Given the description of an element on the screen output the (x, y) to click on. 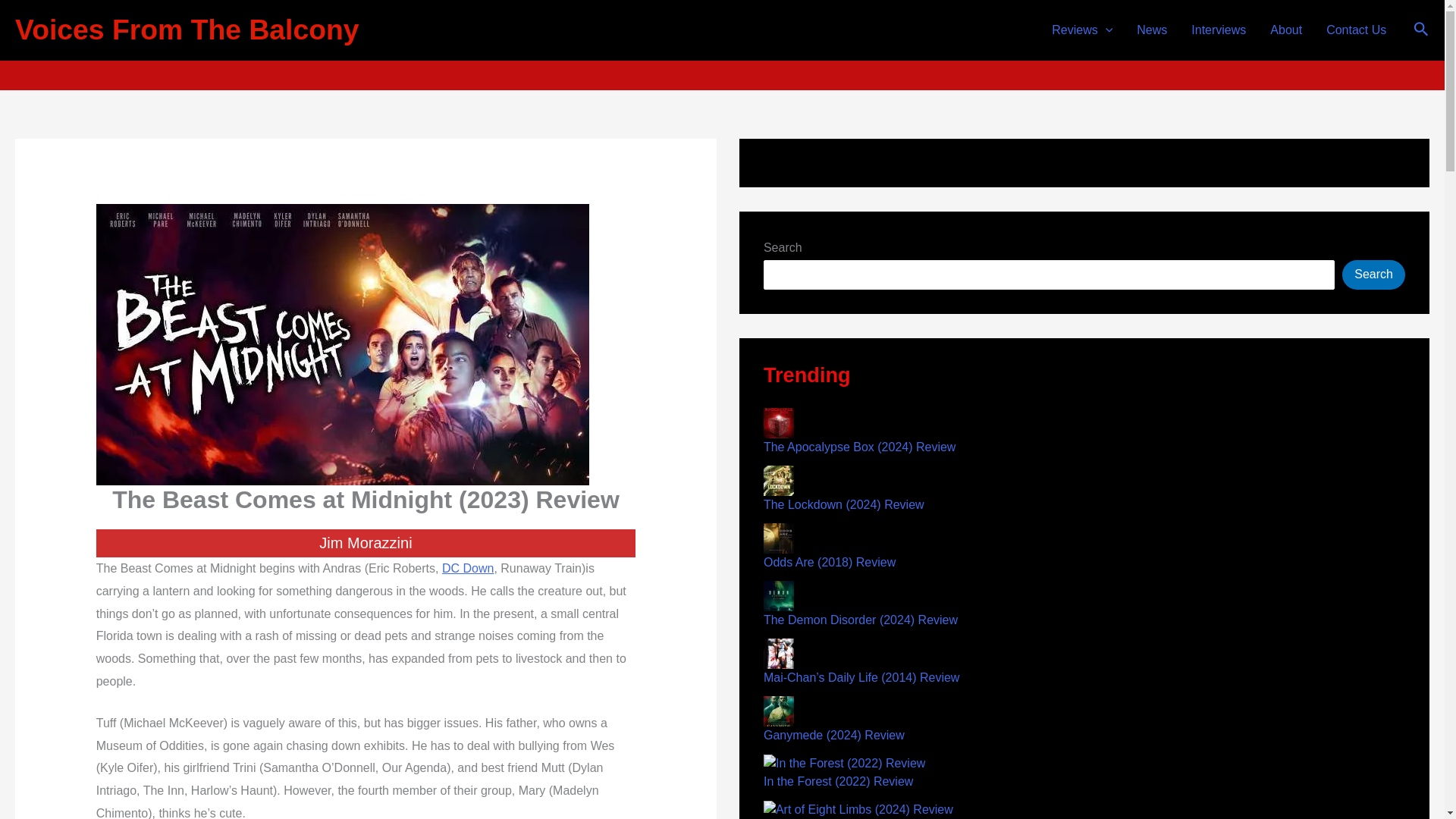
News (1151, 30)
Voices From The Balcony (186, 29)
About (1285, 30)
View all posts by Jim Morazzini (731, 44)
Reviews (1081, 30)
Jim Morazzini (731, 44)
DC Down (467, 567)
Interviews (1218, 30)
Contact Us (1355, 30)
